Given the description of an element on the screen output the (x, y) to click on. 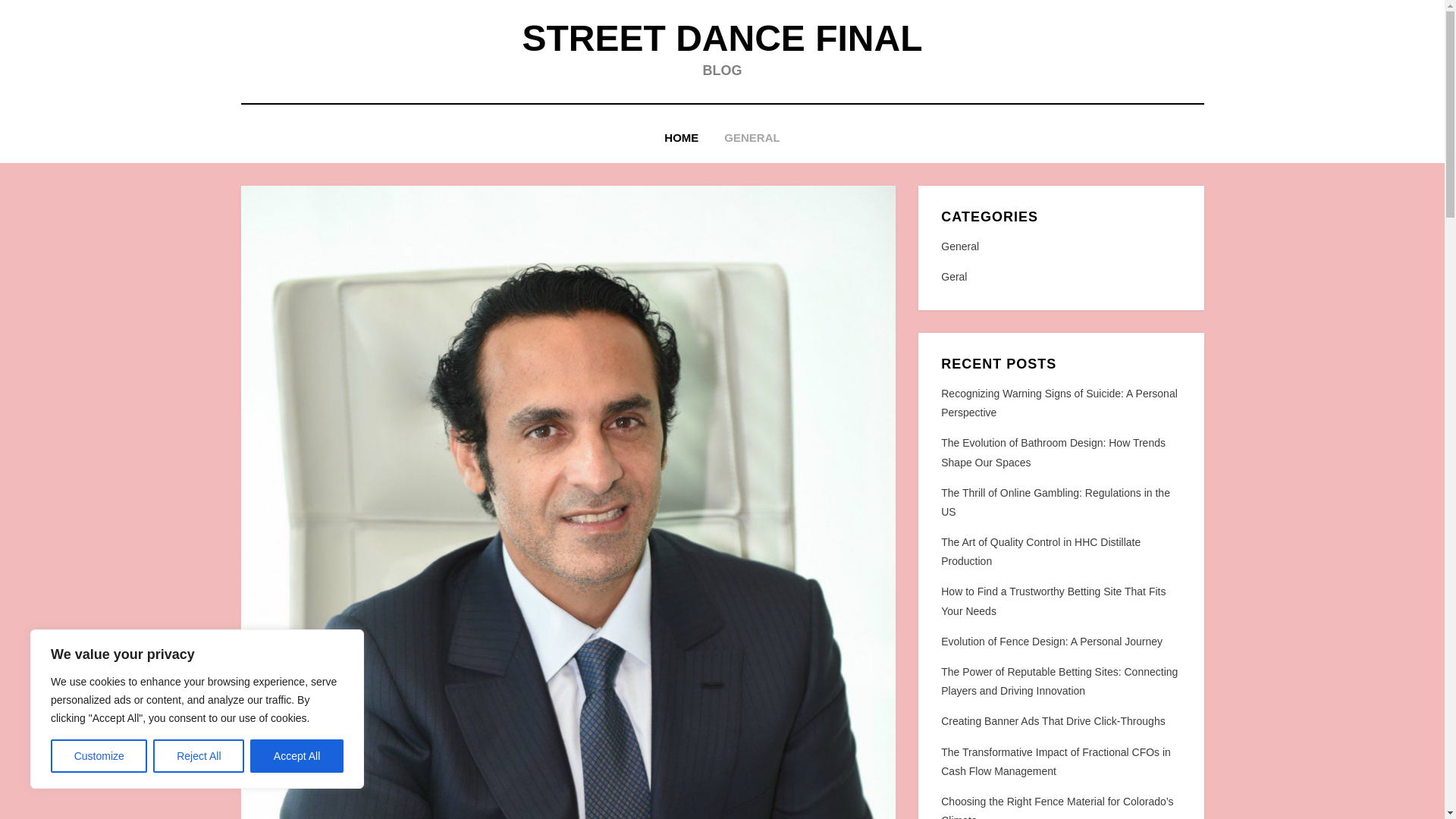
Customize (98, 756)
General (1060, 246)
Street Dance Final (721, 38)
The Thrill of Online Gambling: Regulations in the US (1055, 501)
STREET DANCE FINAL (721, 38)
Recognizing Warning Signs of Suicide: A Personal Perspective (1058, 402)
Accept All (296, 756)
GENERAL (751, 137)
The Art of Quality Control in HHC Distillate Production (1040, 551)
Geral (1060, 276)
Evolution of Fence Design: A Personal Journey (1050, 641)
Reject All (198, 756)
HOME (680, 137)
How to Find a Trustworthy Betting Site That Fits Your Needs (1053, 600)
